Given the description of an element on the screen output the (x, y) to click on. 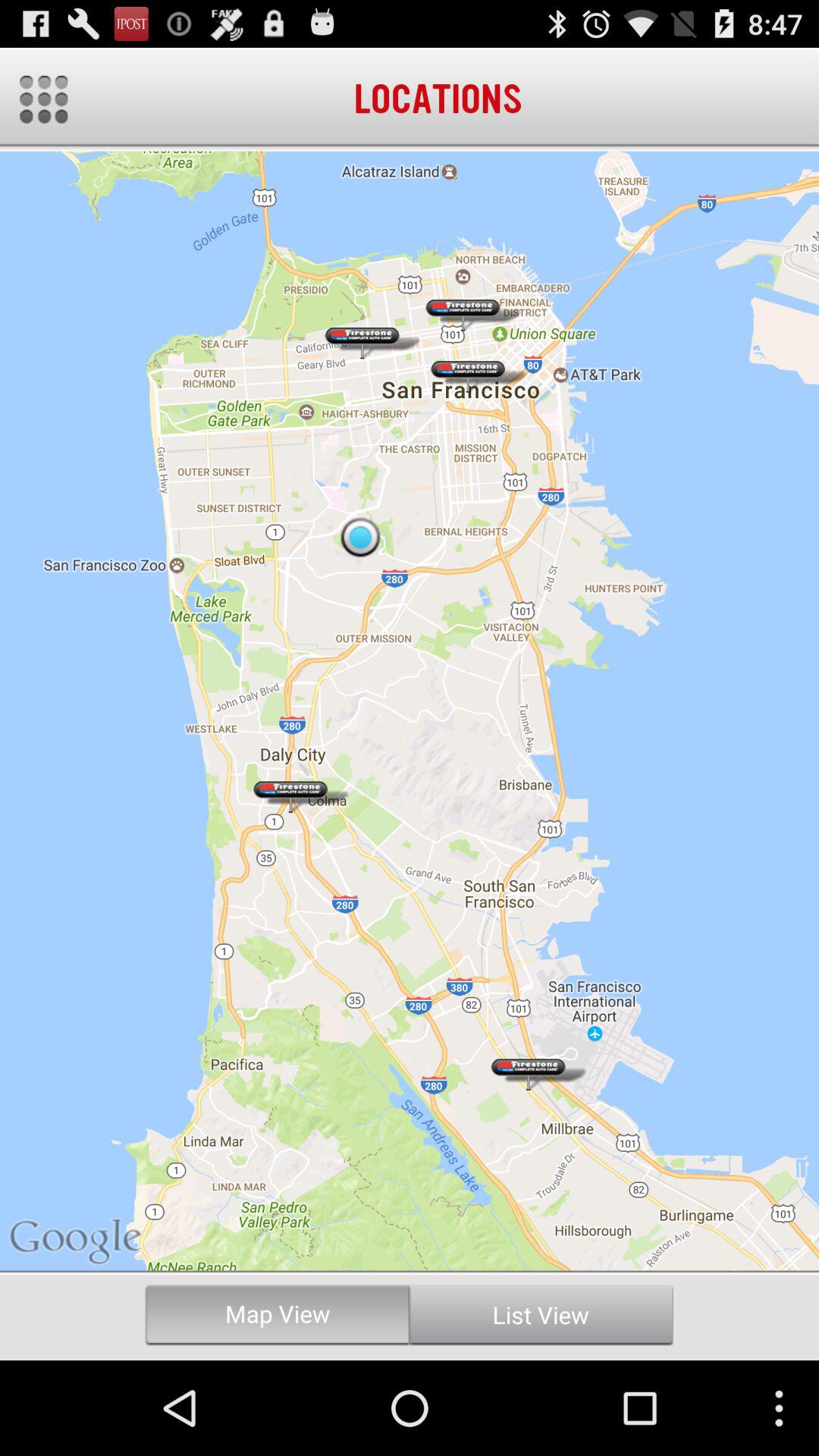
open menu (43, 99)
